Given the description of an element on the screen output the (x, y) to click on. 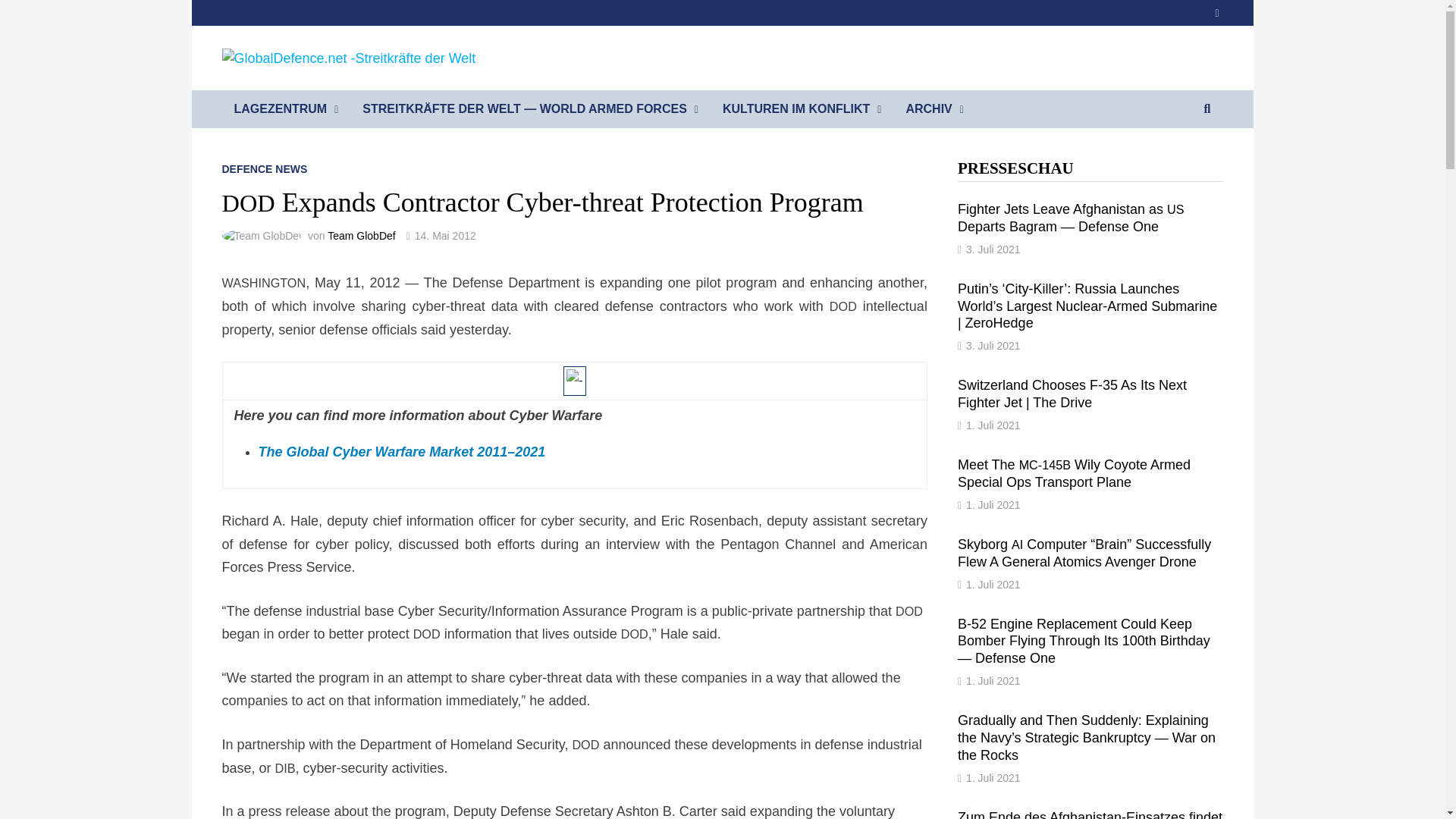
KULTUREN IM KONFLIKT (801, 108)
LAGEZENTRUM (285, 108)
ARCHIV (934, 108)
